Given the description of an element on the screen output the (x, y) to click on. 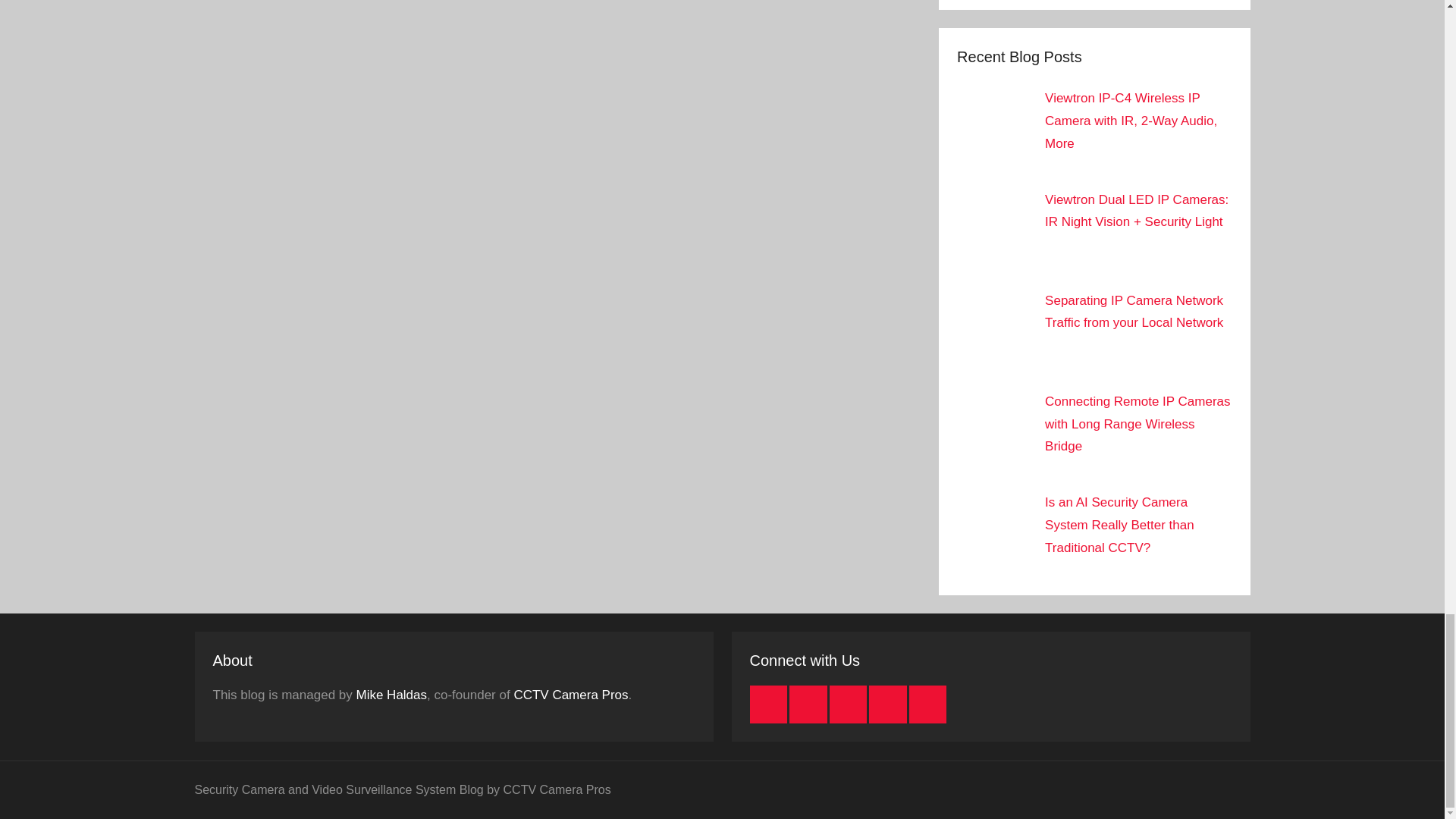
Separating IP Camera Network Traffic from your Local Network (1134, 311)
Viewtron IP-C4 Wireless IP Camera with IR, 2-Way Audio, More (1131, 120)
Connecting Remote IP Cameras with Long Range Wireless Bridge (1137, 423)
